Given the description of an element on the screen output the (x, y) to click on. 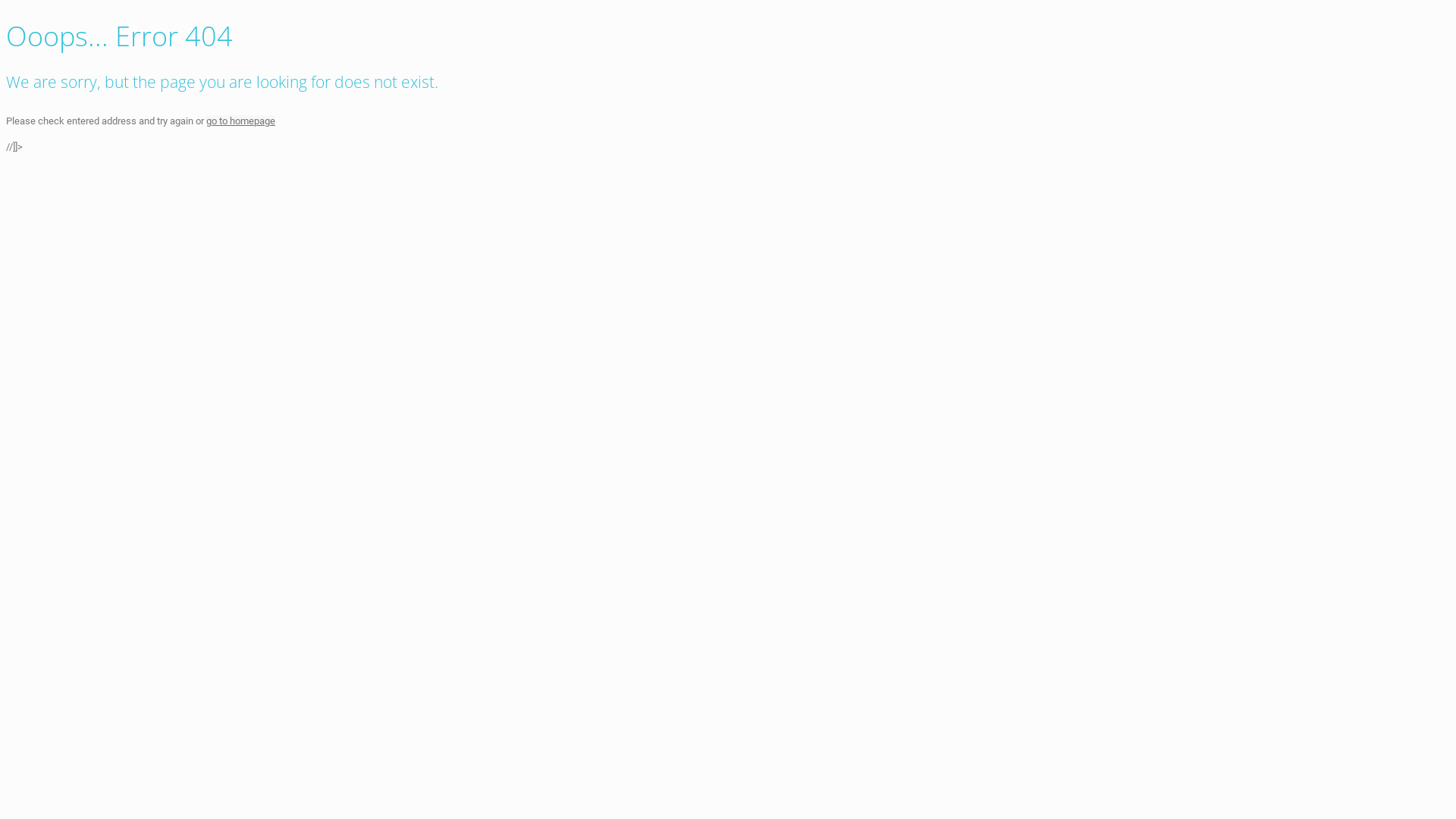
go to homepage Element type: text (240, 120)
